Given the description of an element on the screen output the (x, y) to click on. 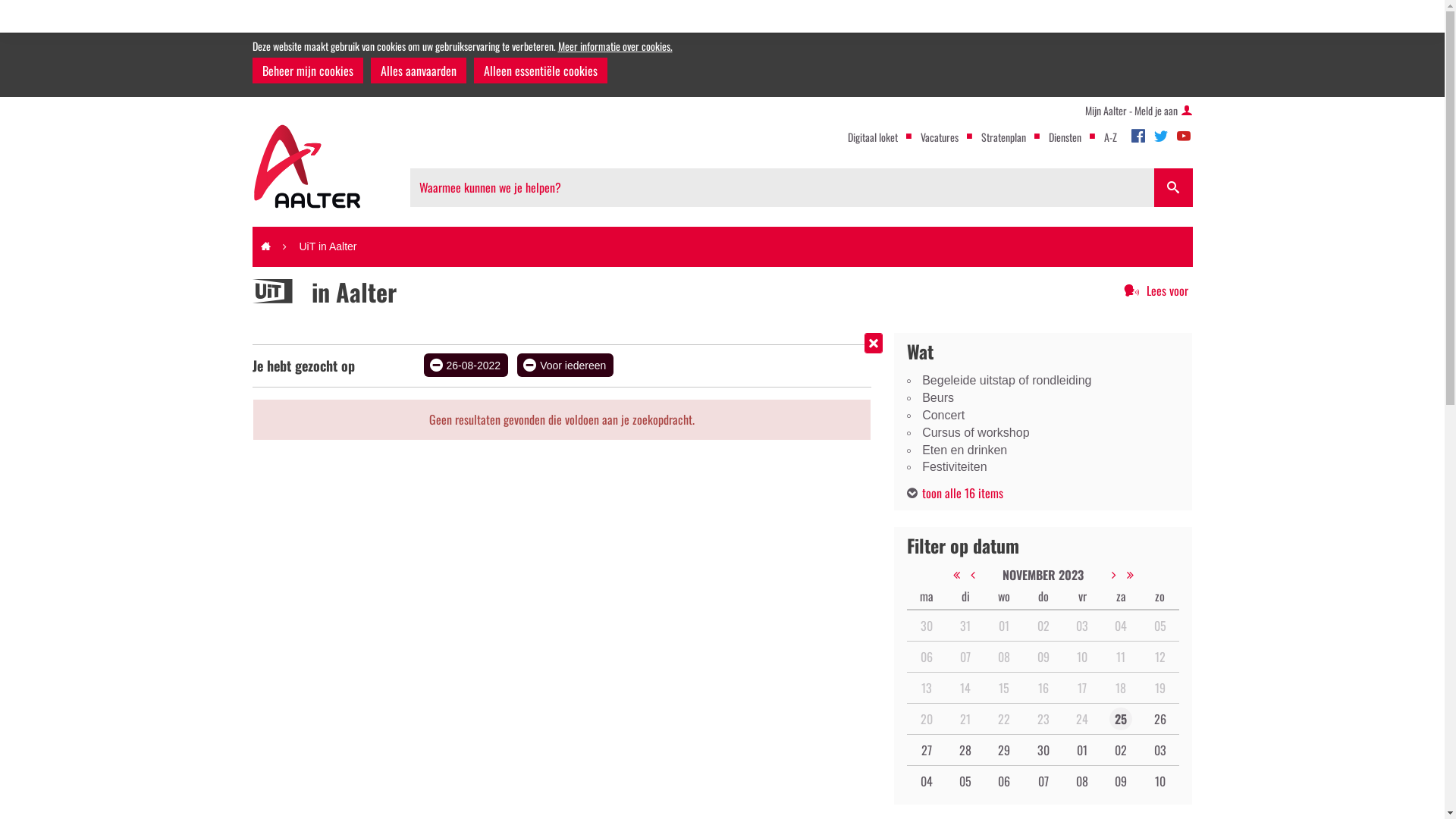
02 Element type: text (1120, 749)
Eten en drinken Element type: text (1042, 450)
toon alle 16 items Element type: text (954, 492)
Zoek Element type: text (1173, 187)
Alle filters verwijderen Element type: text (873, 342)
27 Element type: text (926, 749)
Mijn Aalter - Meld je aan Element type: text (1138, 110)
vorige maand Element type: text (967, 574)
05 Element type: text (964, 780)
28 Element type: text (964, 749)
Beheer mijn cookies Element type: text (306, 70)
Twitter Element type: text (1160, 132)
Beurs Element type: text (1042, 398)
Stratenplan Element type: text (1003, 136)
10 Element type: text (1159, 780)
Festiviteiten Element type: text (1042, 467)
26-08-2022 Element type: text (465, 364)
Naar content Element type: text (721, 222)
29 Element type: text (1003, 749)
Begeleide uitstap of rondleiding Element type: text (1042, 380)
Voor iedereen Element type: text (565, 364)
ga 3 maanden verder Element type: text (1152, 574)
Diensten Element type: text (1064, 136)
30 Element type: text (1043, 749)
09 Element type: text (1120, 780)
Cursus of workshop Element type: text (1042, 433)
Zoeken Element type: hover (1173, 187)
Facebook Element type: text (1137, 132)
06 Element type: text (1003, 780)
01 Element type: text (1081, 749)
A-Z Element type: text (1110, 136)
Alles aanvaarden Element type: text (417, 70)
volgende maand Element type: text (1118, 574)
03 Element type: text (1159, 749)
Waarmee kunnen we je helpen? Element type: hover (781, 187)
Gemeente Aalter Element type: text (307, 166)
Concert Element type: text (1042, 415)
08 Element type: text (1081, 780)
Vacatures Element type: text (939, 136)
25 Element type: text (1120, 718)
Home Element type: text (264, 246)
ga 3 maanden terug Element type: text (933, 574)
Lees voor Element type: text (1155, 290)
26 Element type: text (1159, 718)
Digitaal loket Element type: text (872, 136)
07 Element type: text (1043, 780)
Youtube Element type: text (1182, 132)
04 Element type: text (926, 780)
RSS Element type: text (251, 304)
Meer informatie over cookies. Element type: text (615, 45)
